Given the description of an element on the screen output the (x, y) to click on. 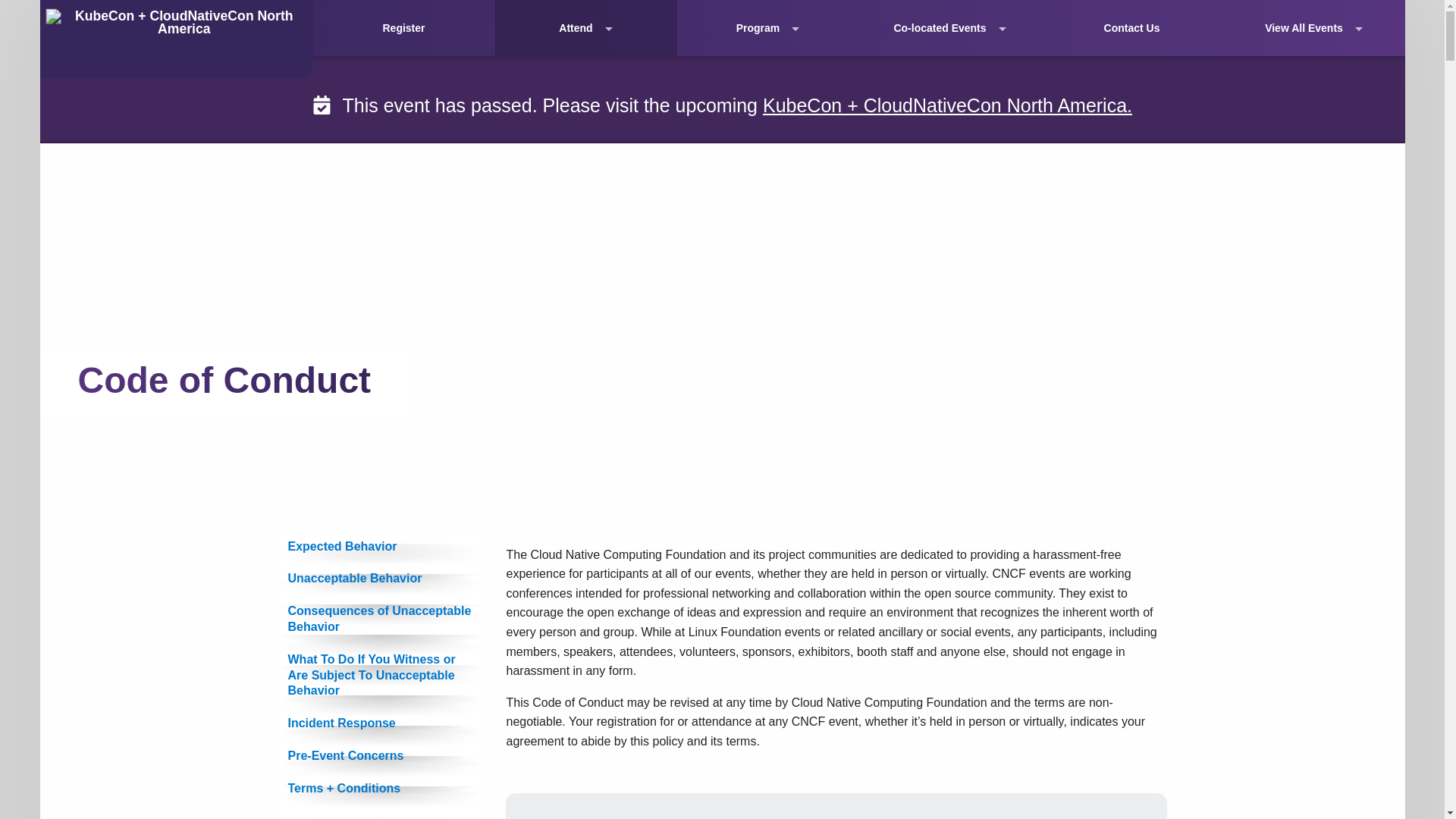
Consequences of Unacceptable Behavior (381, 619)
Expected Behavior (381, 546)
Attend (586, 28)
Co-located Events (950, 28)
Register (404, 28)
Unacceptable Behavior (381, 578)
Program (768, 28)
Skip to content (16, 10)
Contact Us (1132, 28)
View All Events (1314, 28)
